Given the description of an element on the screen output the (x, y) to click on. 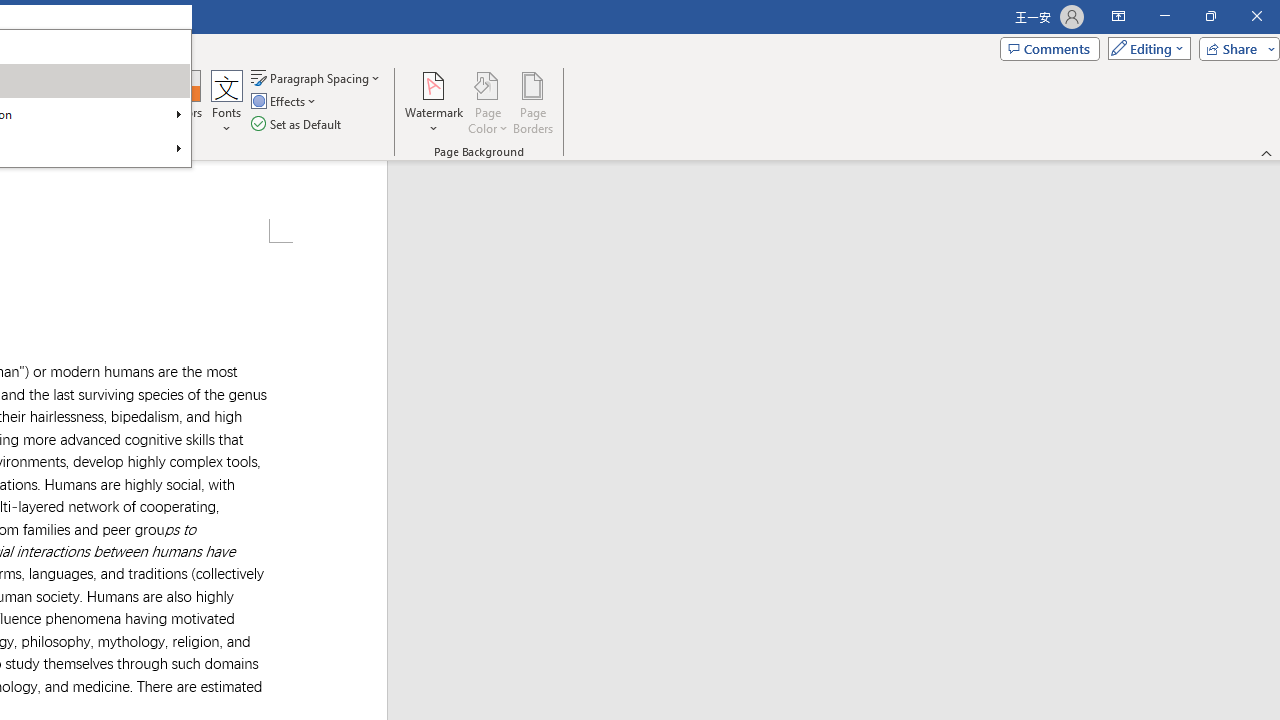
Set as Default (298, 124)
Word 2013 (108, 100)
Colors (184, 102)
Row up (153, 79)
Word 2010 (36, 100)
Effects (285, 101)
Watermark (434, 102)
Page Borders... (532, 102)
Row Down (153, 100)
Paragraph Spacing (317, 78)
